Given the description of an element on the screen output the (x, y) to click on. 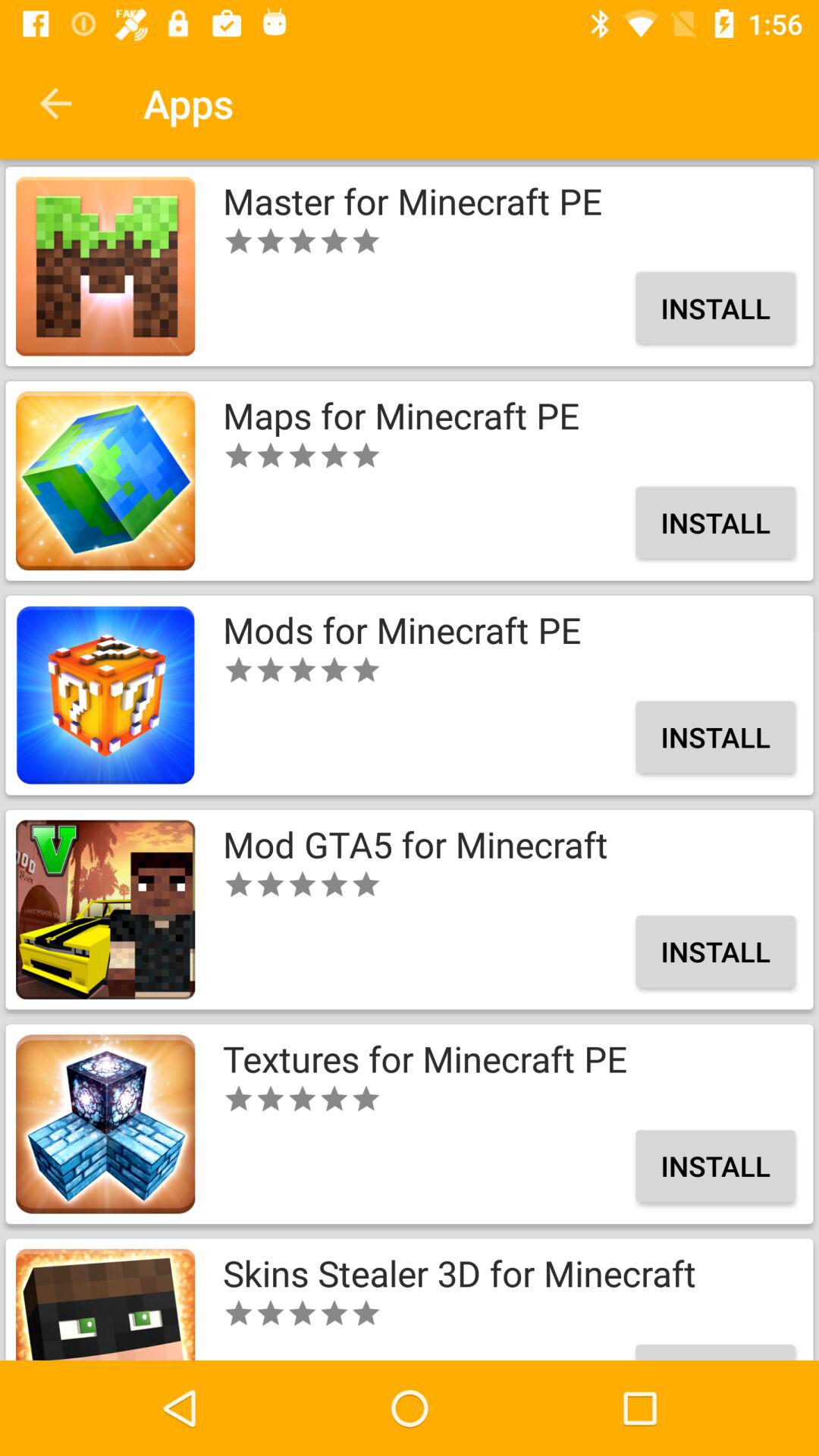
launch icon next to apps app (55, 103)
